Given the description of an element on the screen output the (x, y) to click on. 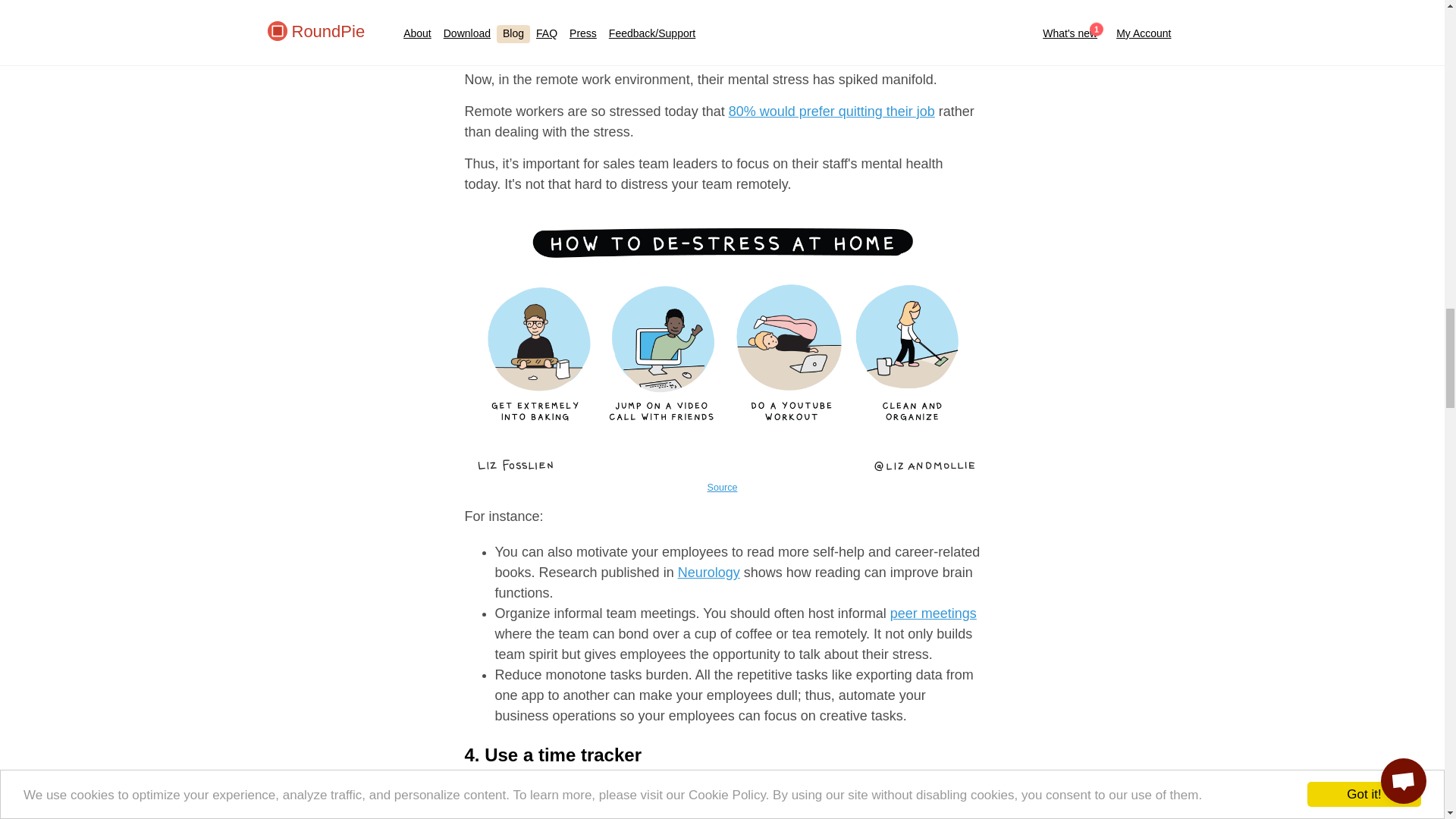
peer meetings (932, 613)
Source (722, 487)
Neurology (708, 572)
